Given the description of an element on the screen output the (x, y) to click on. 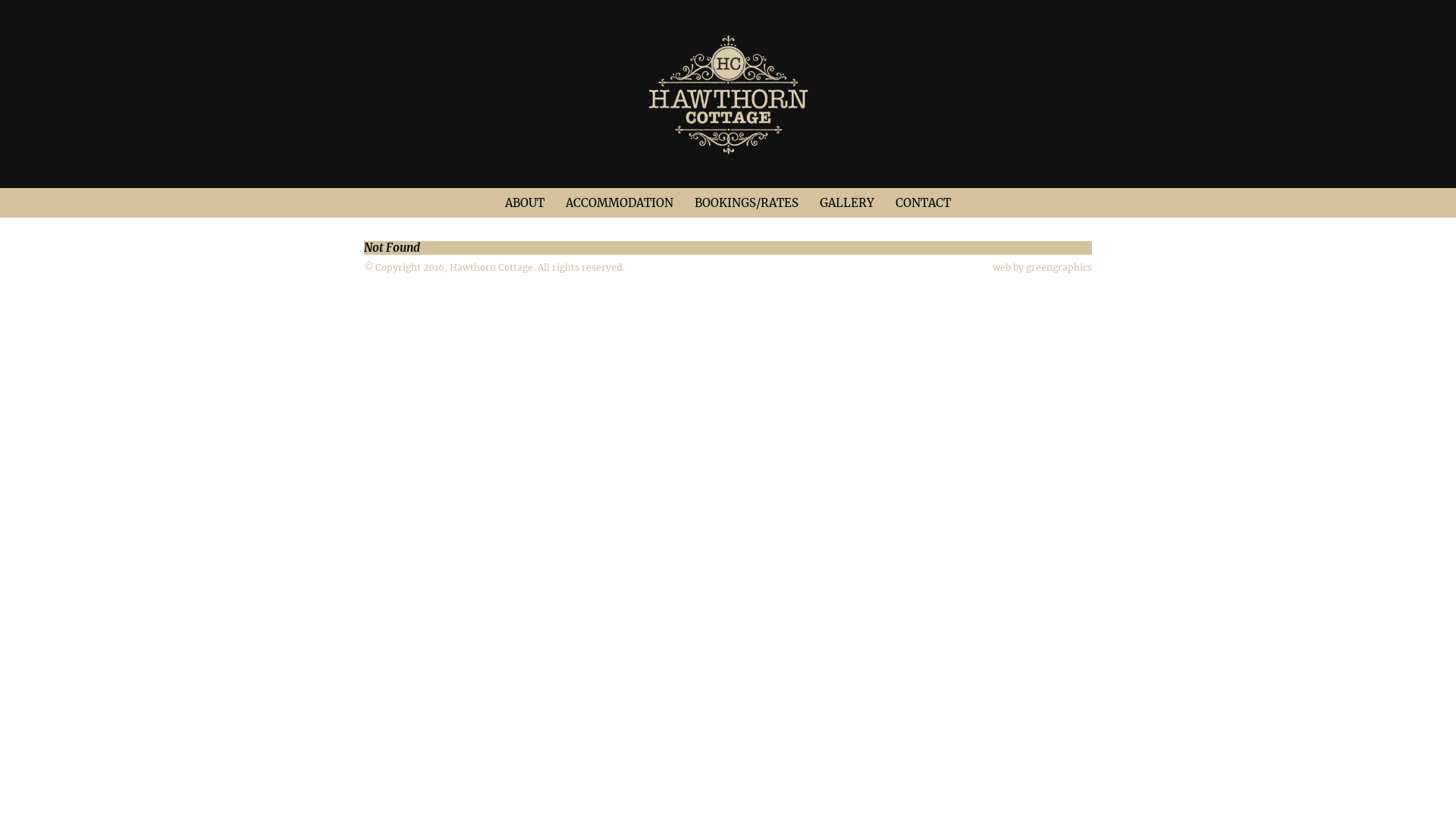
ABOUT Element type: text (524, 202)
BOOKINGS/RATES Element type: text (746, 202)
CONTACT Element type: text (923, 202)
web by greengraphics Element type: text (1042, 267)
ACCOMMODATION Element type: text (619, 202)
GALLERY Element type: text (846, 202)
